Given the description of an element on the screen output the (x, y) to click on. 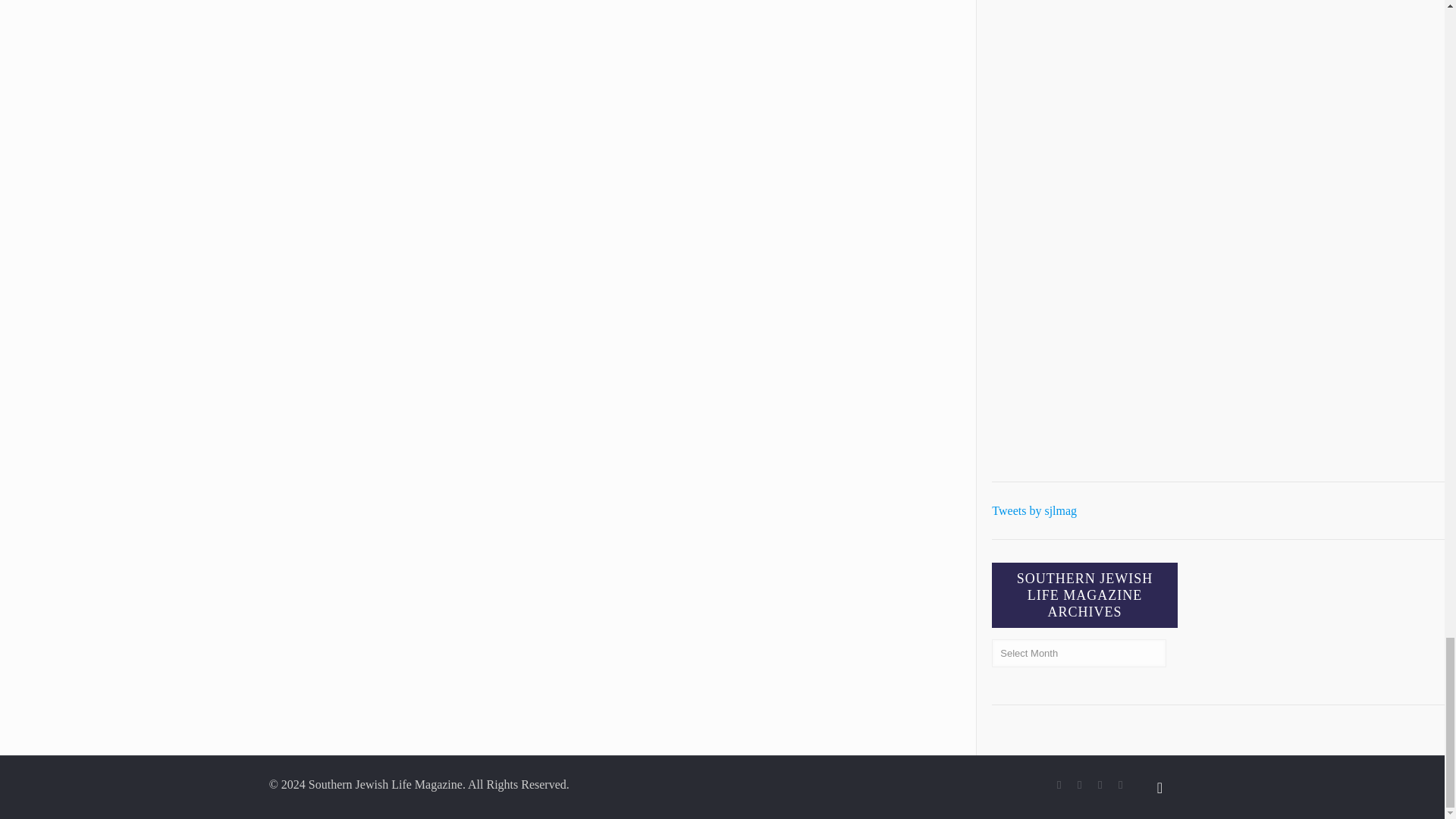
Twitter (1079, 784)
Instagram (1120, 784)
Facebook (1059, 784)
Pinterest (1100, 784)
